Given the description of an element on the screen output the (x, y) to click on. 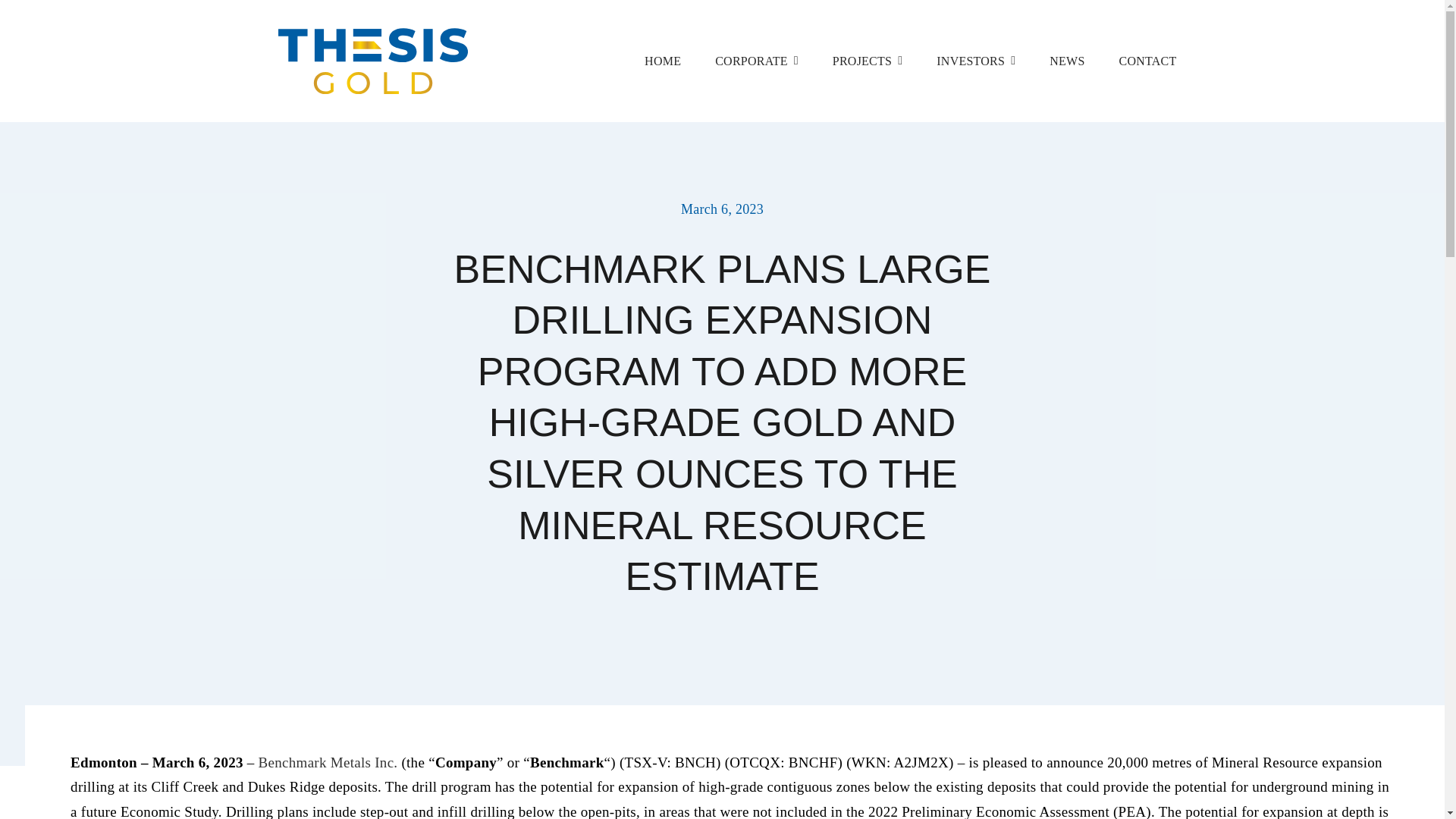
INVESTORS (975, 60)
Benchmark Metals Inc. (328, 762)
CORPORATE (755, 60)
PROJECTS (867, 60)
CONTACT (1147, 60)
